Given the description of an element on the screen output the (x, y) to click on. 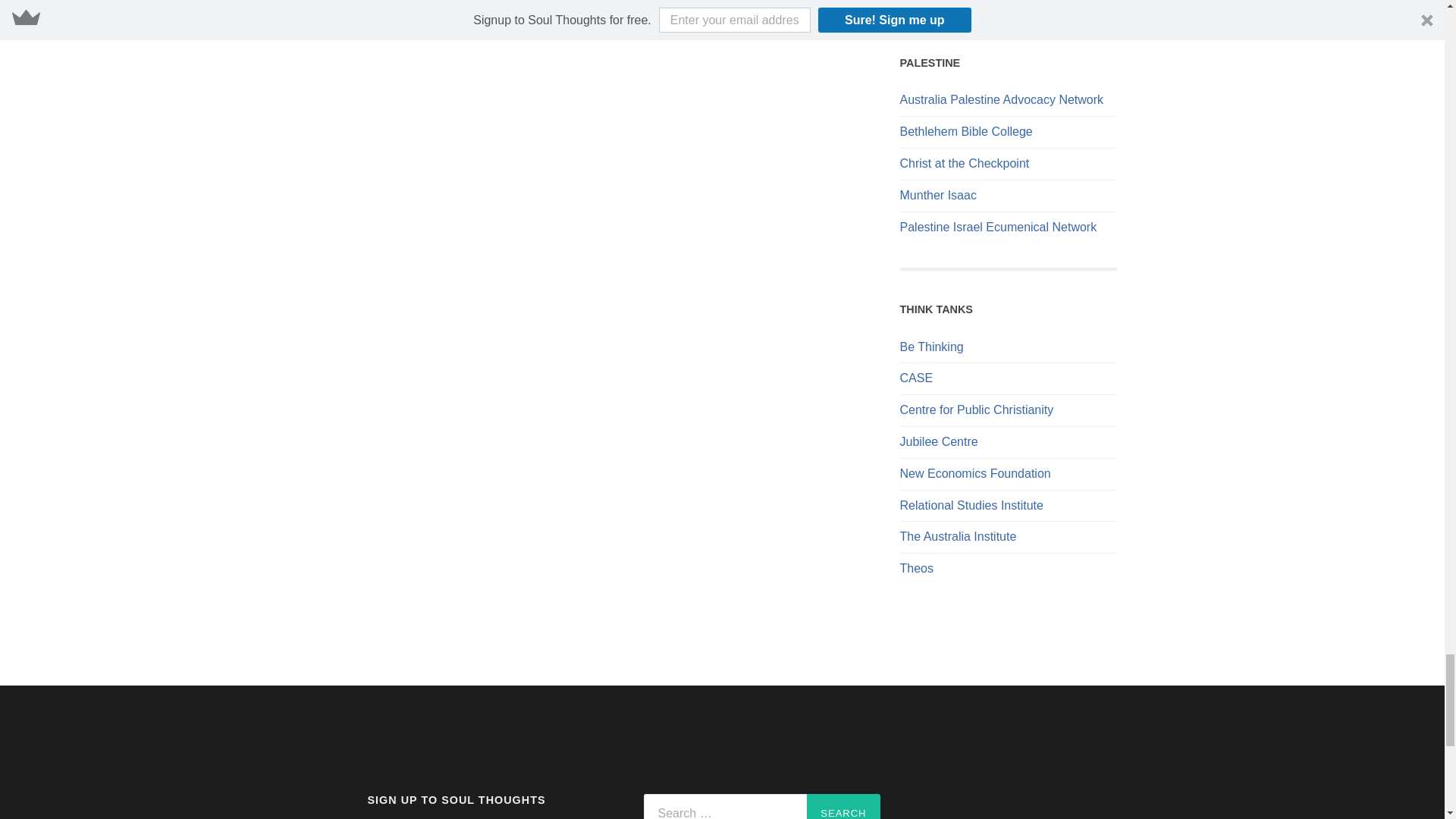
Search (842, 806)
Search (842, 806)
